Given the description of an element on the screen output the (x, y) to click on. 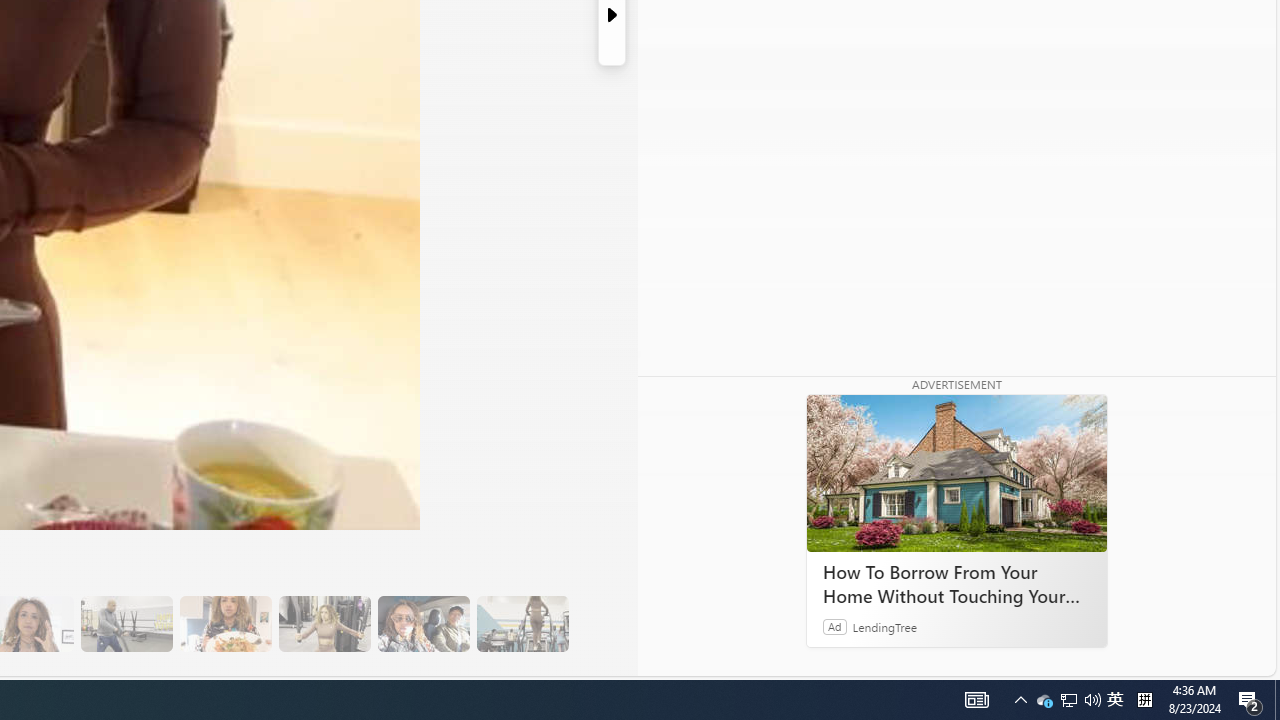
13 Her Husband Does Group Cardio Classs (125, 624)
14 They Have Salmon and Veggies for Dinner (225, 624)
